Given the description of an element on the screen output the (x, y) to click on. 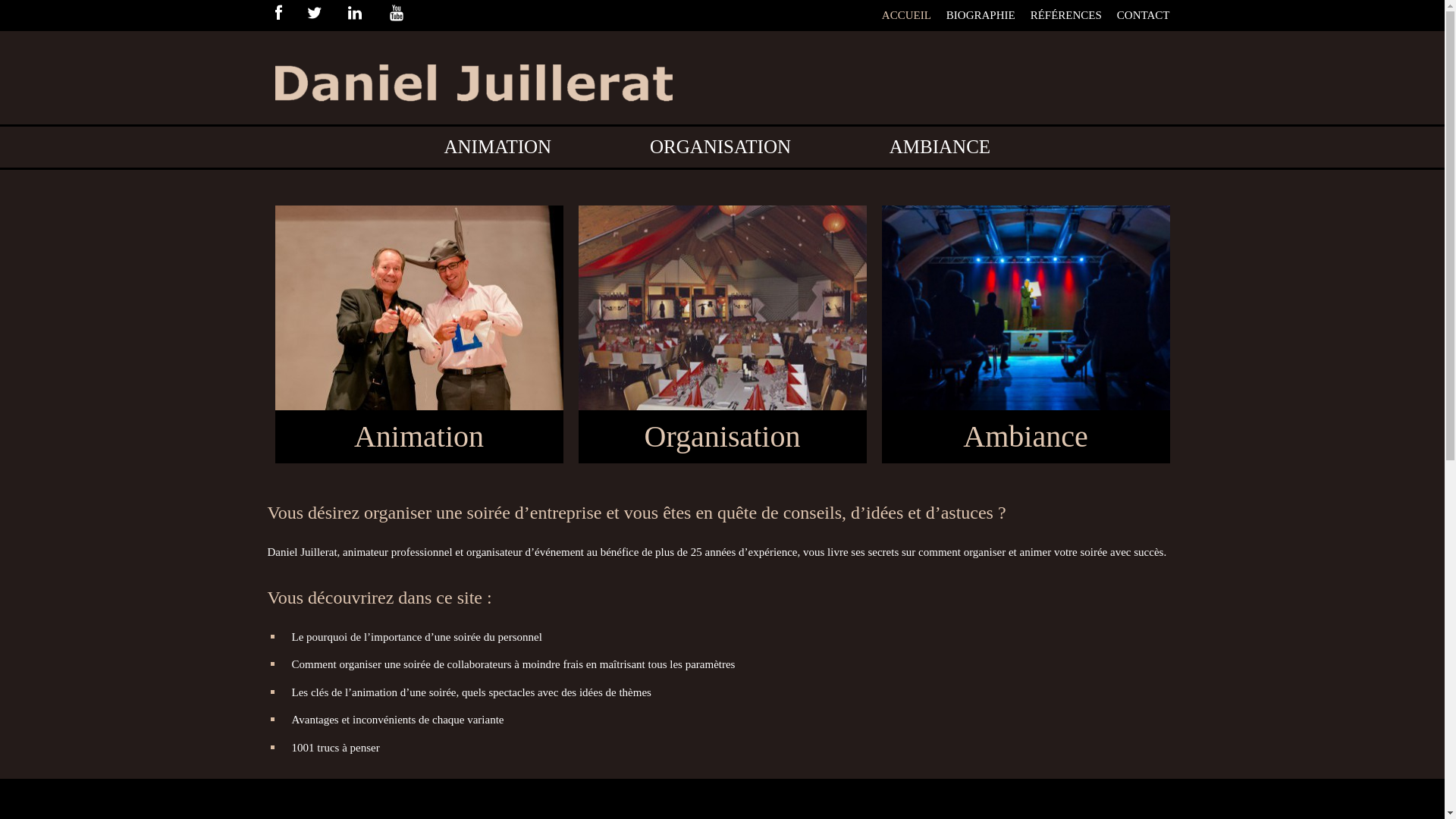
Accueil Element type: hover (472, 70)
Facebook Element type: hover (289, 14)
Aller au contenu principal Element type: text (63, 169)
BIOGRAPHIE Element type: text (980, 15)
Linkedin Element type: hover (367, 14)
ACCUEIL Element type: text (906, 15)
Organisation Element type: text (721, 436)
AMBIANCE Element type: text (939, 146)
Animation Element type: text (418, 436)
ANIMATION Element type: text (497, 146)
Ambiance Element type: text (1025, 436)
Twitter Element type: hover (326, 14)
CONTACT Element type: text (1143, 15)
ORGANISATION Element type: text (719, 146)
